Given the description of an element on the screen output the (x, y) to click on. 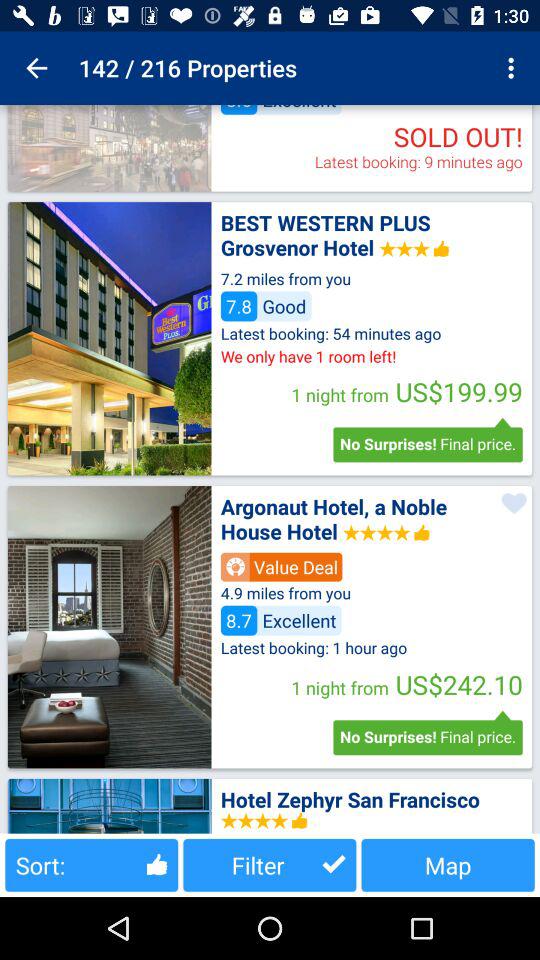
press the app next to the excellent app (513, 67)
